Given the description of an element on the screen output the (x, y) to click on. 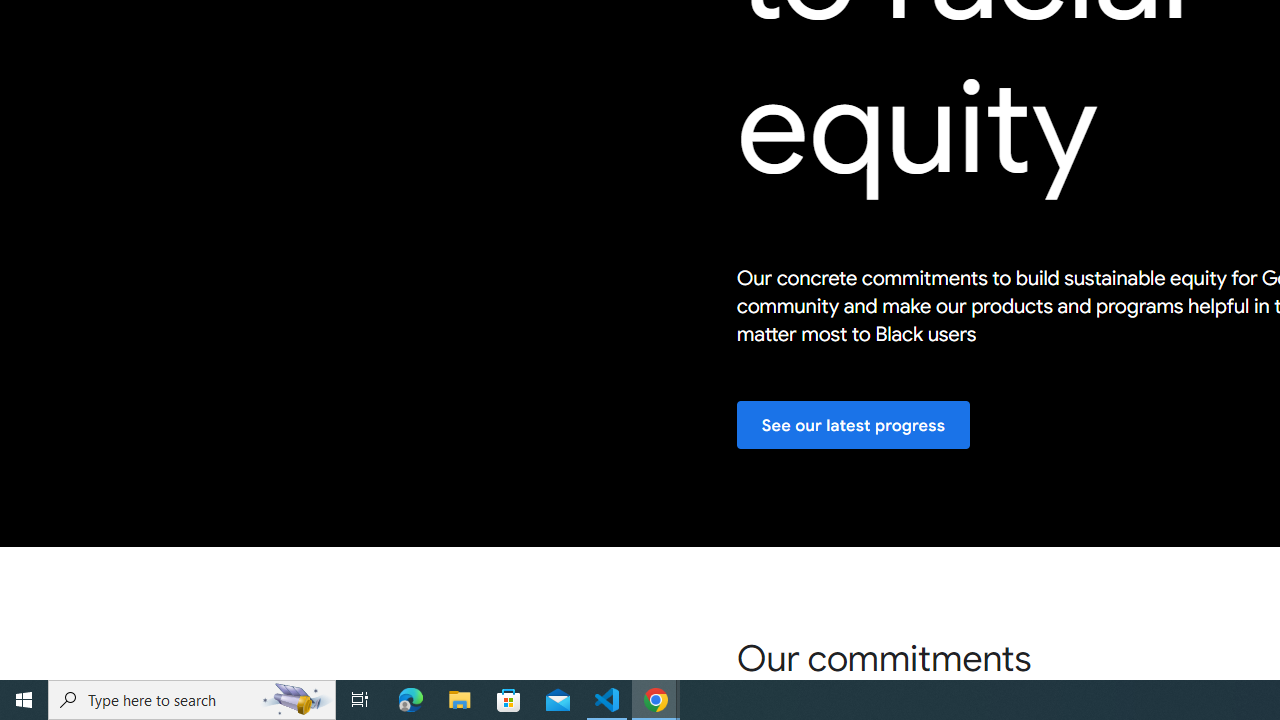
See our latest progress (853, 425)
